Given the description of an element on the screen output the (x, y) to click on. 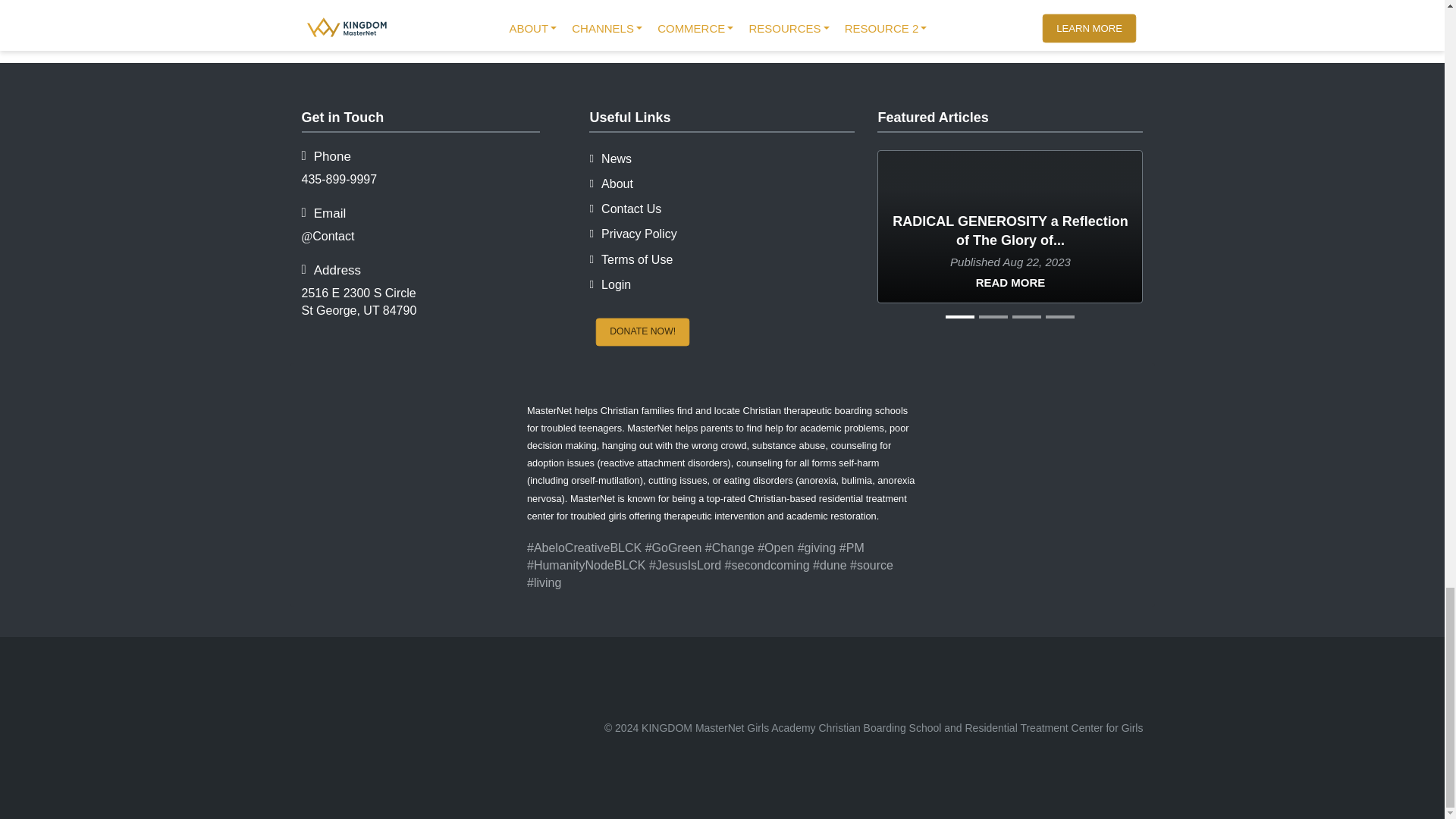
Donate (649, 334)
KINGDOM MasterNet home page (434, 727)
